Given the description of an element on the screen output the (x, y) to click on. 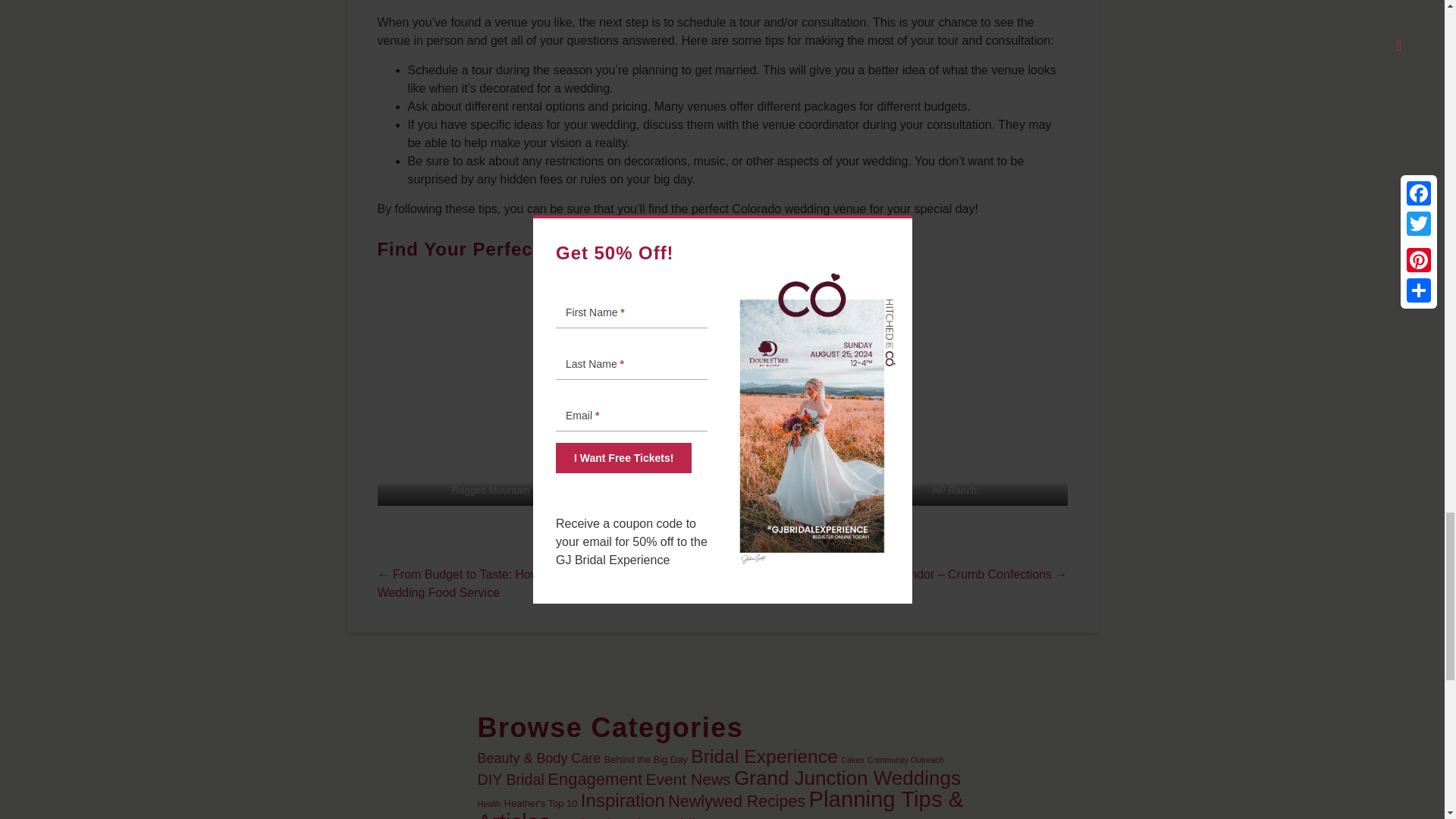
Behind the Big Day (645, 758)
Cakes (852, 759)
Bridal Experience (764, 756)
Find Your Perfect Colorado Wedding Venue Here! (607, 249)
